Given the description of an element on the screen output the (x, y) to click on. 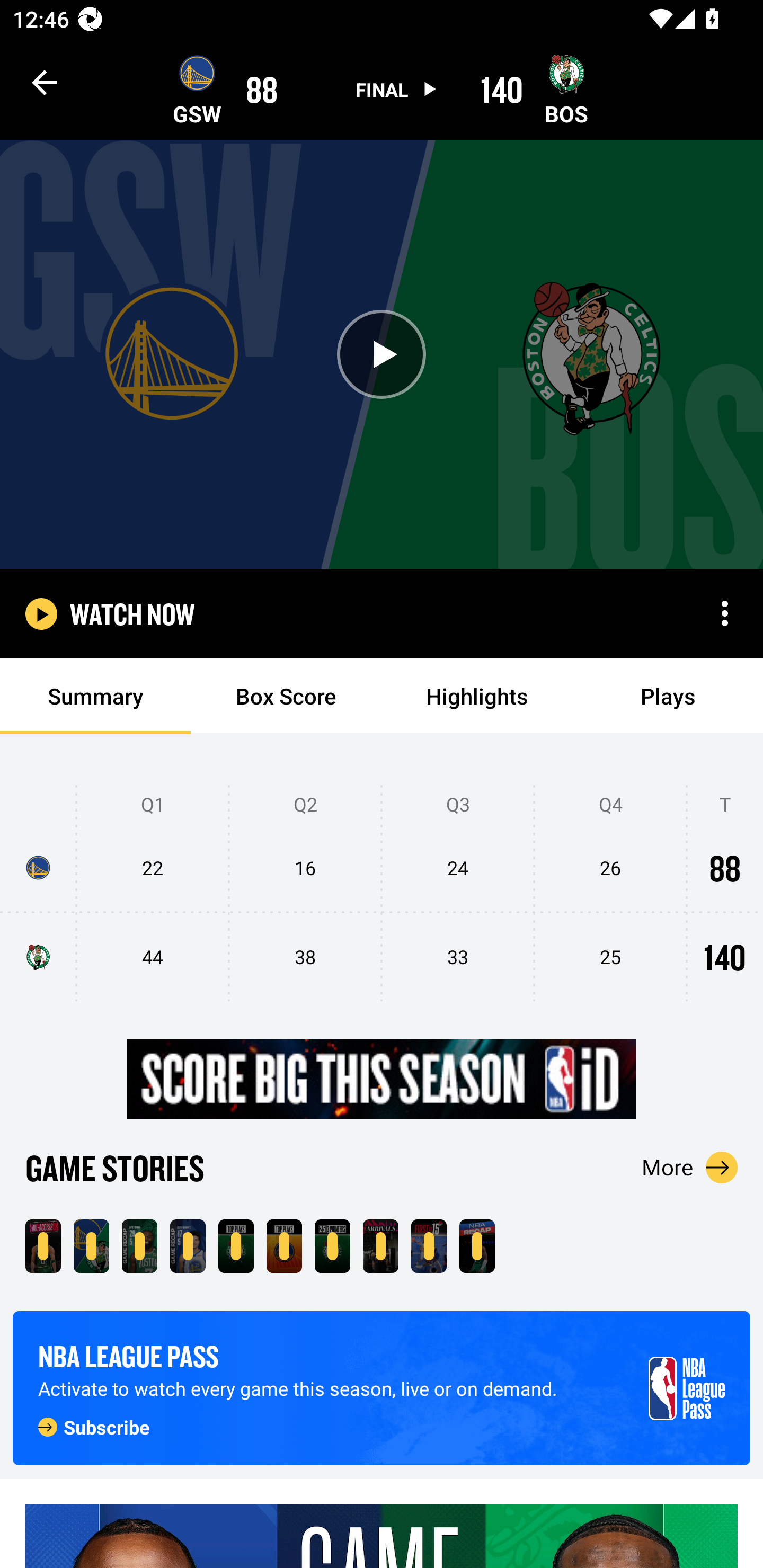
Navigate up (44, 82)
More options (724, 613)
WATCH NOW (132, 613)
Box Score (285, 695)
Highlights (476, 695)
Plays (667, 695)
Q1 Q2 Q3 Q4 T 22 16 24 26 88 44 38 33 25 140 (381, 893)
More (689, 1166)
Warriors And Celtics Clash At TD Garden 🍀 NEW (43, 1246)
BOS 140, GSW 88 - Mar 3 NEW (91, 1246)
Highlights From Jaylen Brown's 29-Point Game NEW (139, 1246)
Highlights From Lester Quinones' 17-Point Game NEW (187, 1246)
BOS' Top Plays from GSW vs. BOS NEW (236, 1246)
GSW's Top Plays from GSW vs. BOS NEW (284, 1246)
All 3-pointers from BOS' 25 3-pointer Night NEW (332, 1246)
Steppin' Into Sunday 🔥 NEW (380, 1246)
First To 15, Mar. 3rd NEW (428, 1246)
Sunday's Recap NEW (477, 1246)
